Given the description of an element on the screen output the (x, y) to click on. 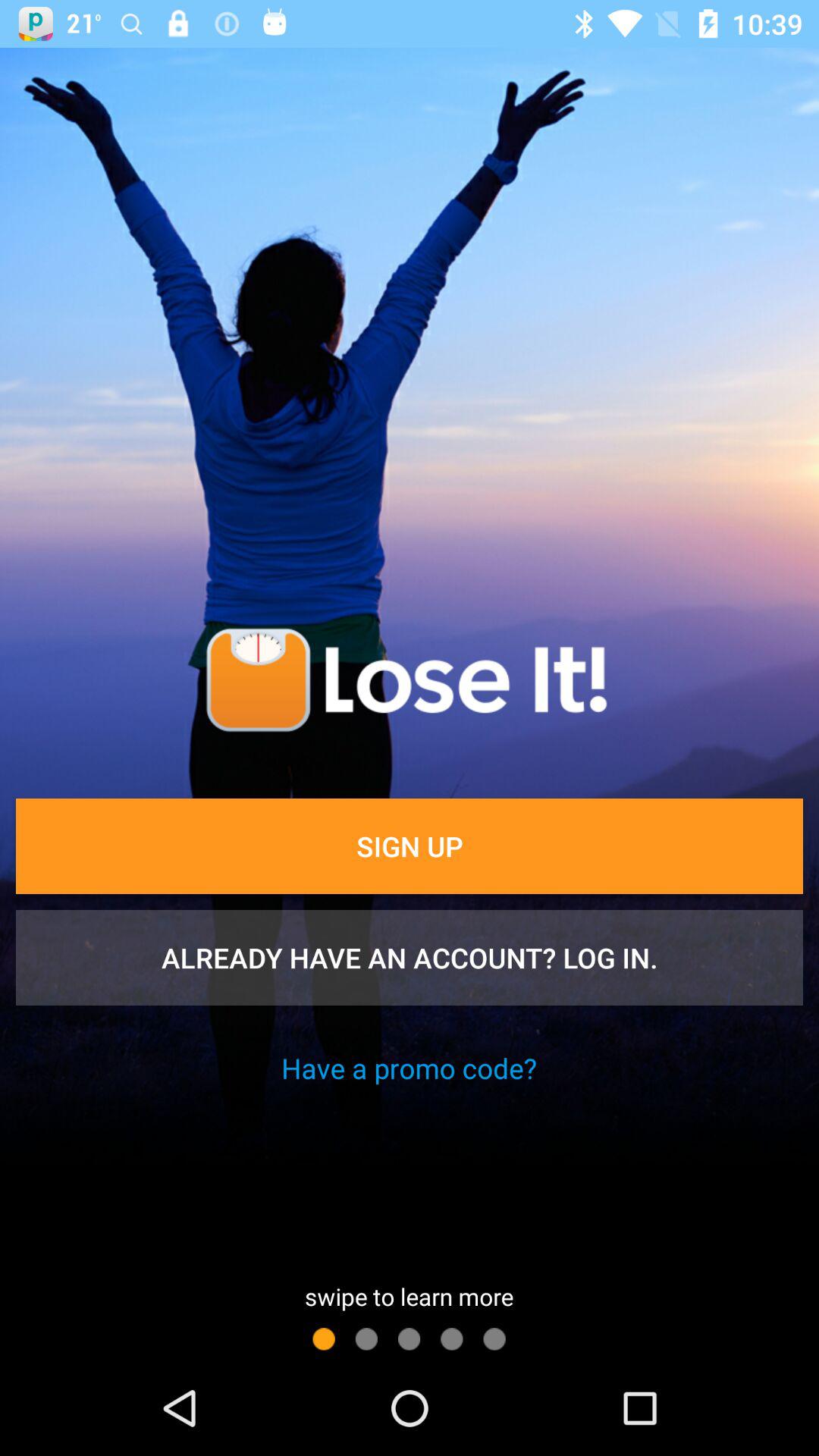
choose the sign up item (409, 846)
